Given the description of an element on the screen output the (x, y) to click on. 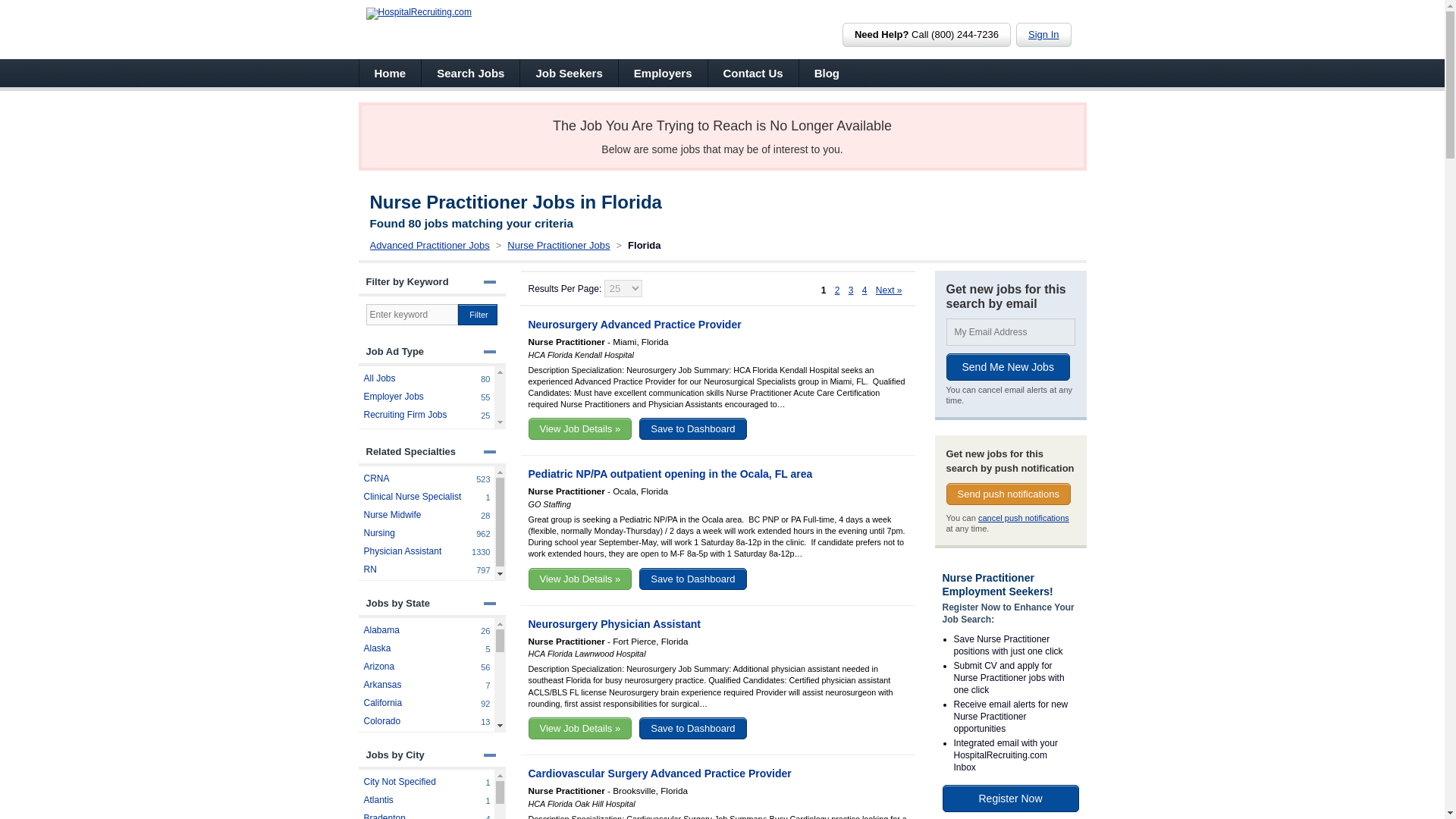
Search Jobs (425, 414)
Filter (469, 72)
Blog (477, 314)
Send Me New Jobs (825, 72)
Browse Jobs (1008, 366)
Contact Us (425, 496)
Nurse Practitioner Jobs (469, 72)
